Given the description of an element on the screen output the (x, y) to click on. 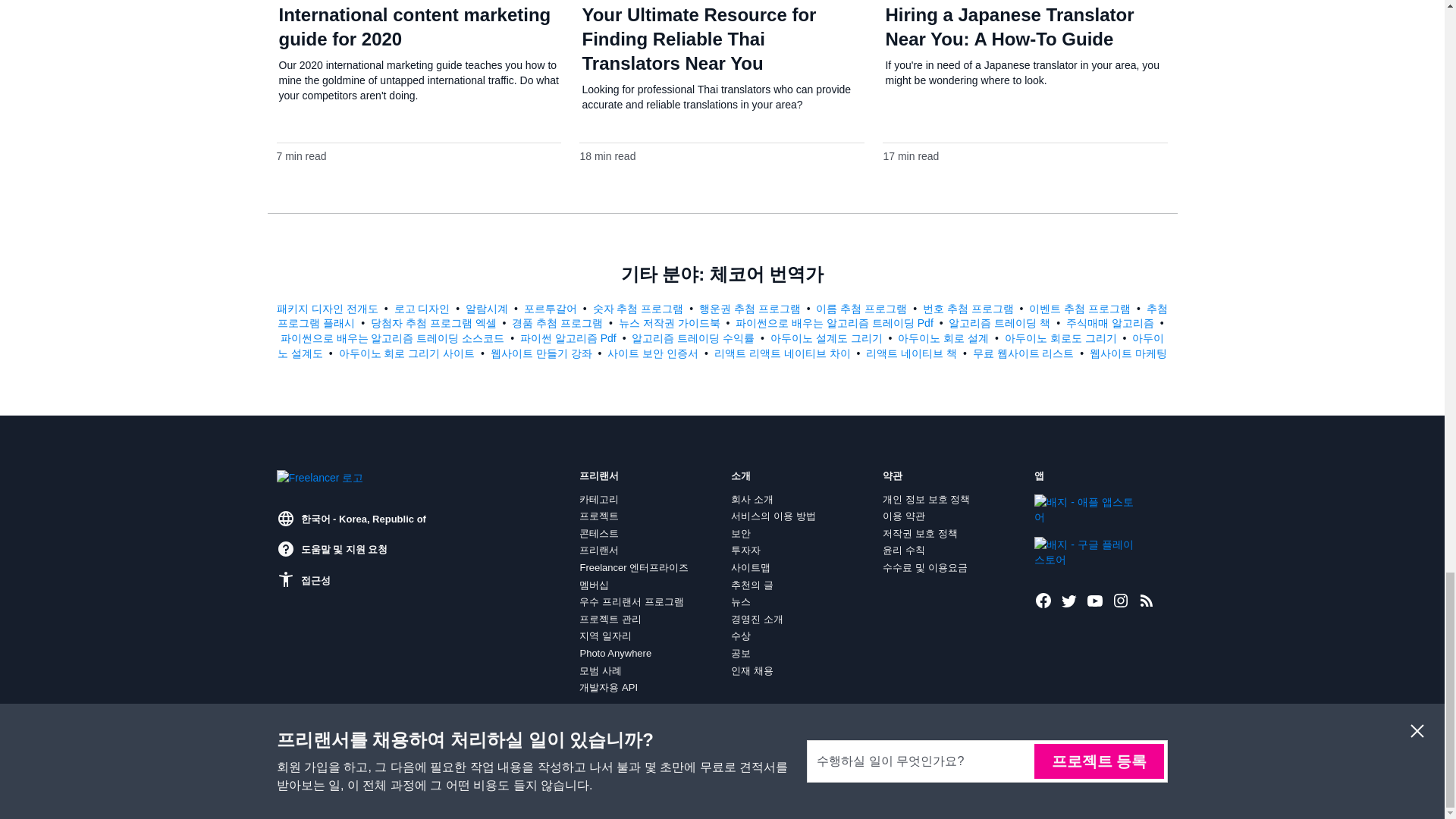
International content marketing guide for 2020 (415, 26)
Hiring a Japanese Translator Near You: A How-To Guide (1009, 26)
